Given the description of an element on the screen output the (x, y) to click on. 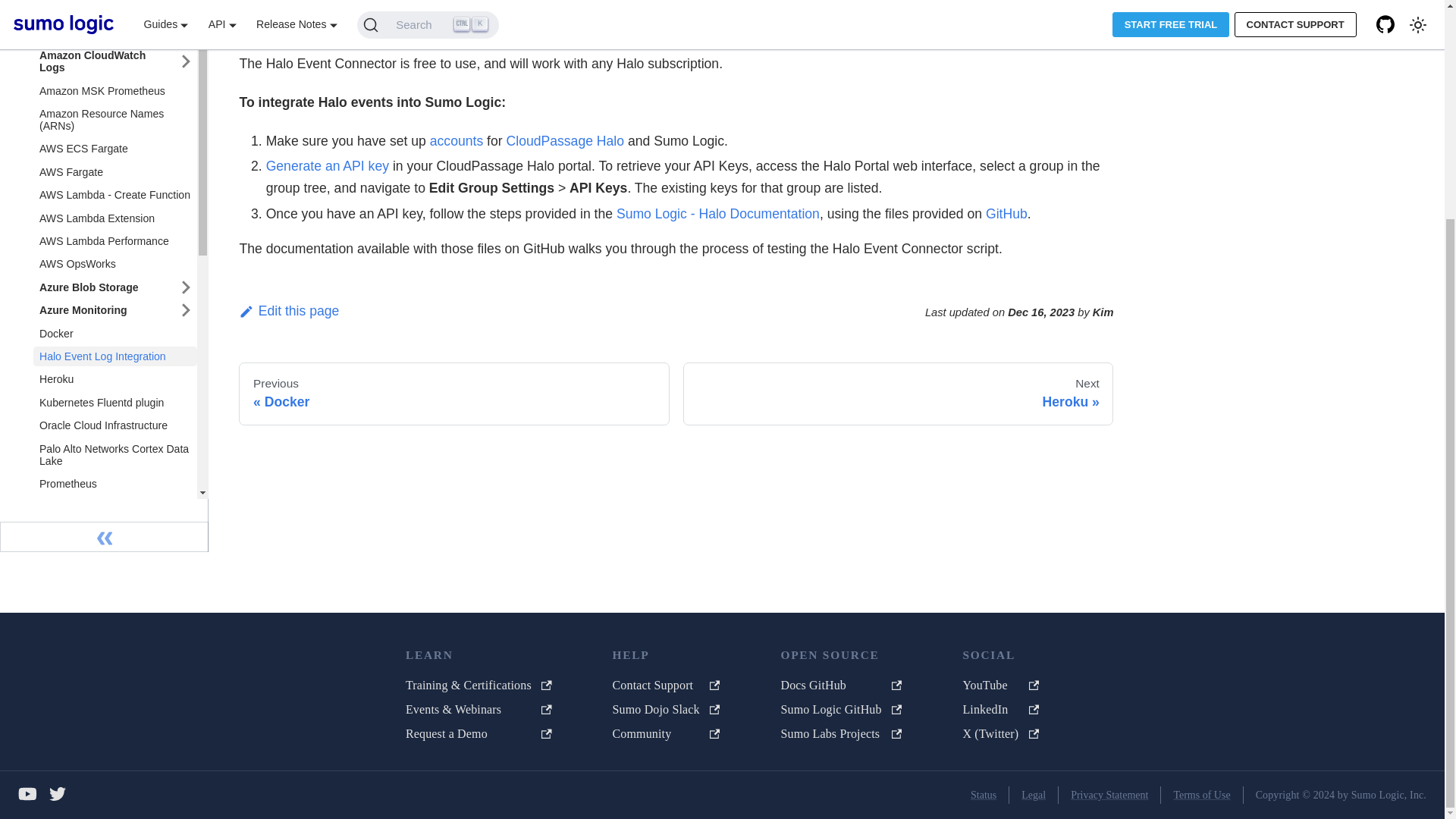
Collapse sidebar (104, 513)
